Given the description of an element on the screen output the (x, y) to click on. 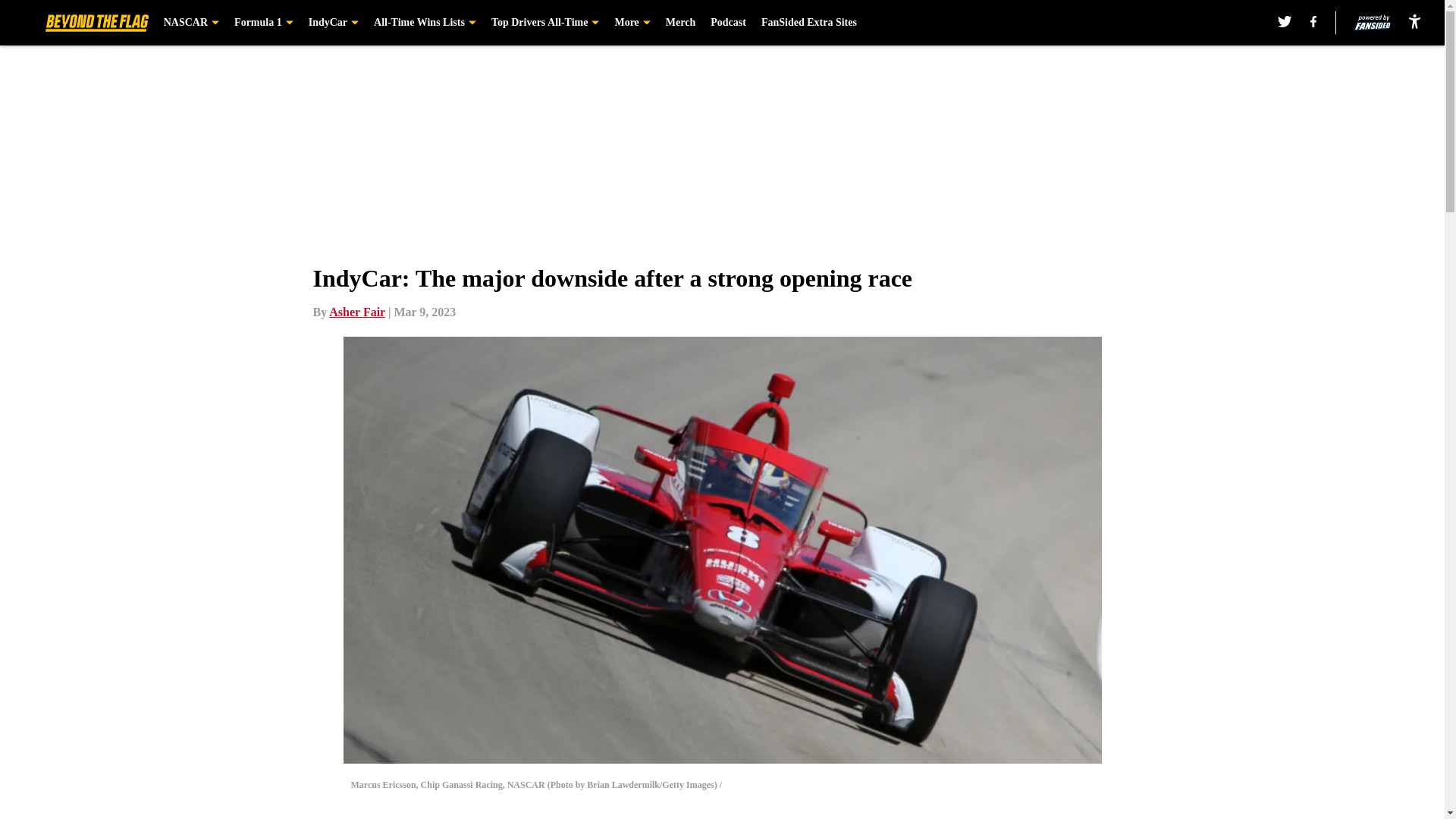
Podcast (727, 22)
FanSided Extra Sites (809, 22)
Asher Fair (357, 311)
Merch (680, 22)
